Given the description of an element on the screen output the (x, y) to click on. 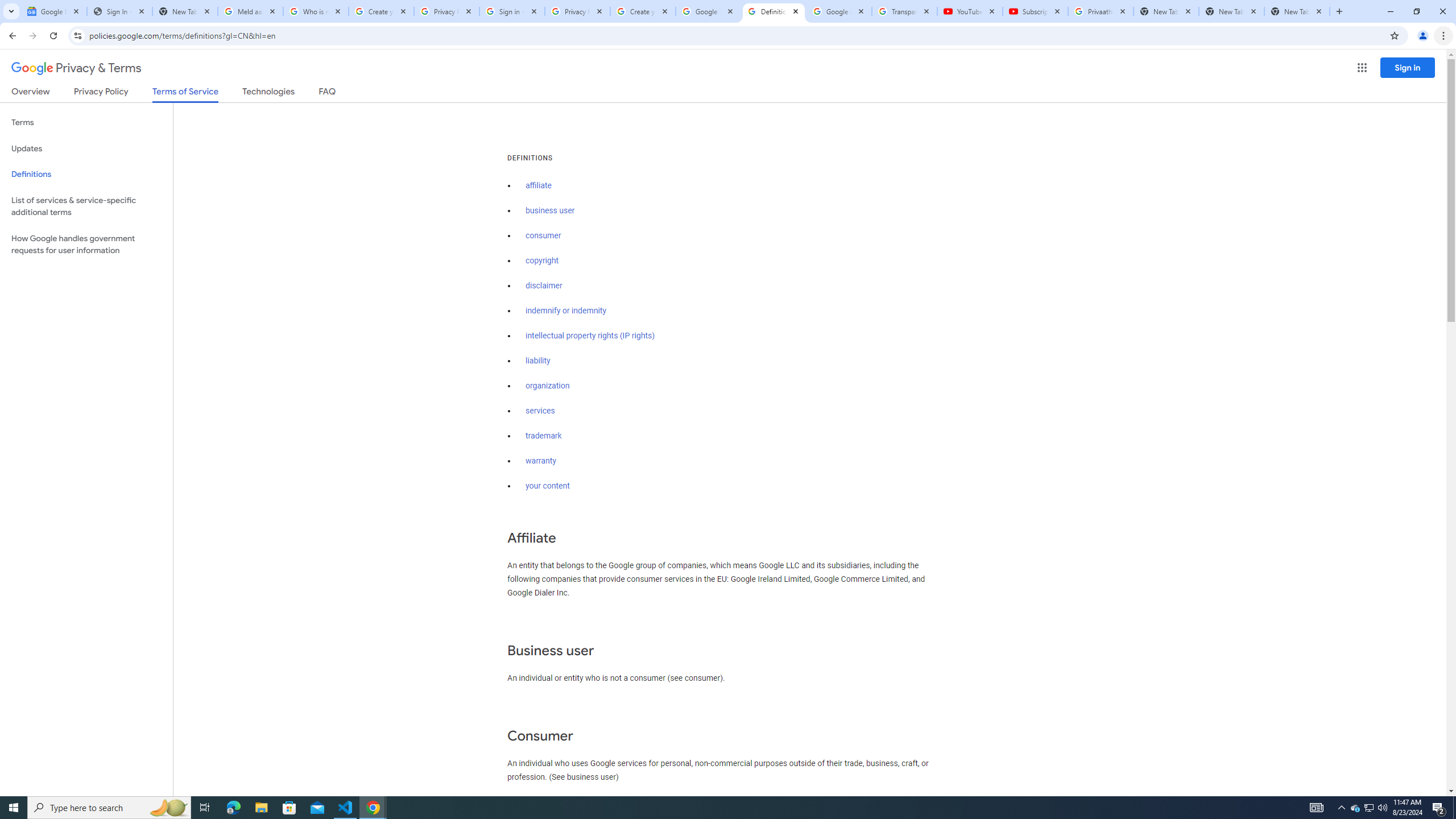
trademark (543, 435)
your content (547, 486)
Google News (53, 11)
Subscriptions - YouTube (1035, 11)
How Google handles government requests for user information (86, 244)
